Given the description of an element on the screen output the (x, y) to click on. 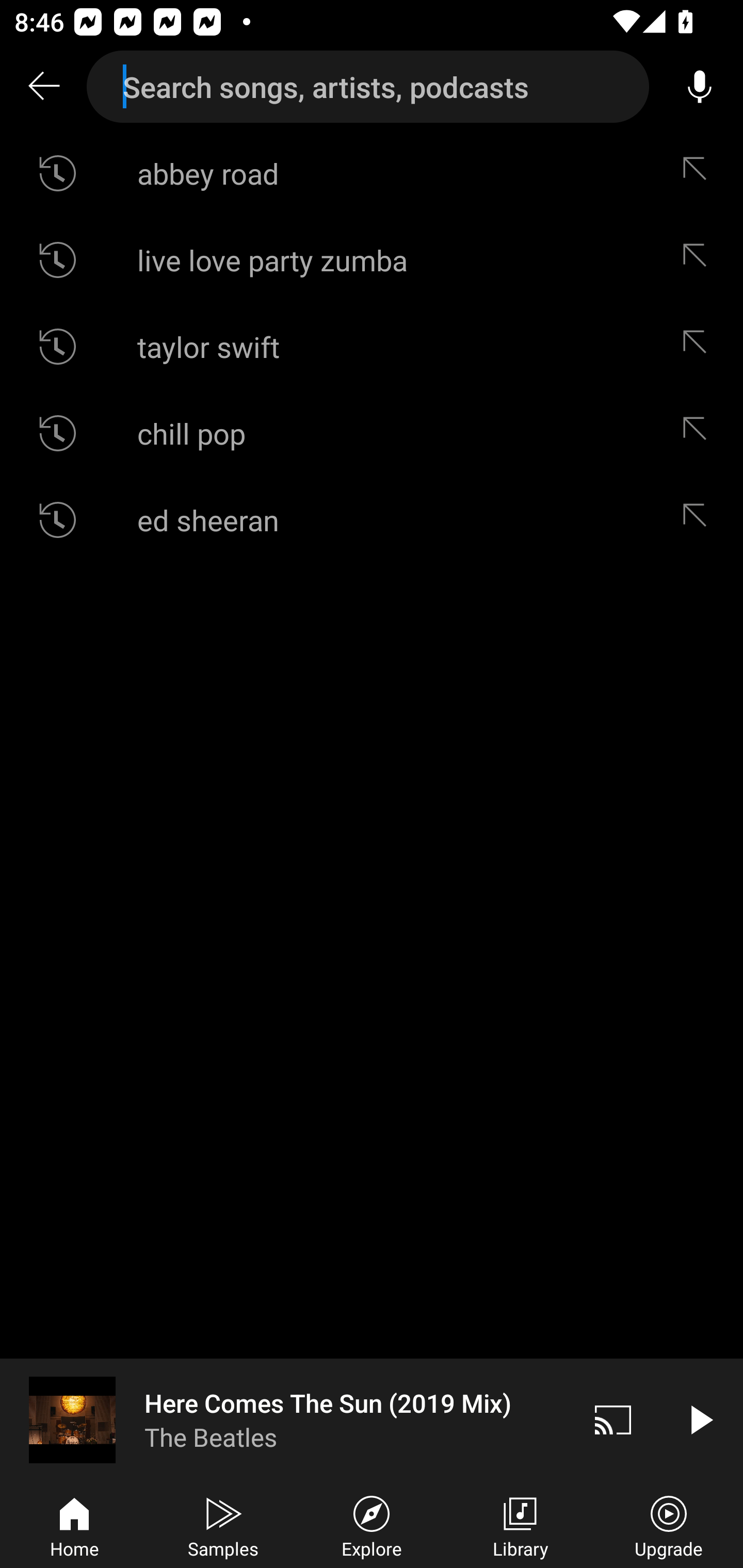
Search back (43, 86)
Search songs, artists, podcasts (367, 86)
Voice search (699, 86)
abbey road Edit suggestion abbey road (371, 173)
Edit suggestion abbey road (699, 173)
Edit suggestion live love party zumba (699, 259)
taylor swift Edit suggestion taylor swift (371, 346)
Edit suggestion taylor swift (699, 346)
chill pop Edit suggestion chill pop (371, 433)
Edit suggestion chill pop (699, 433)
ed sheeran Edit suggestion ed sheeran (371, 519)
Edit suggestion ed sheeran (699, 519)
Here Comes The Sun (2019 Mix) The Beatles (284, 1419)
Cast. Disconnected (612, 1419)
Play video (699, 1419)
Home (74, 1524)
Samples (222, 1524)
Explore (371, 1524)
Library (519, 1524)
Upgrade (668, 1524)
